Given the description of an element on the screen output the (x, y) to click on. 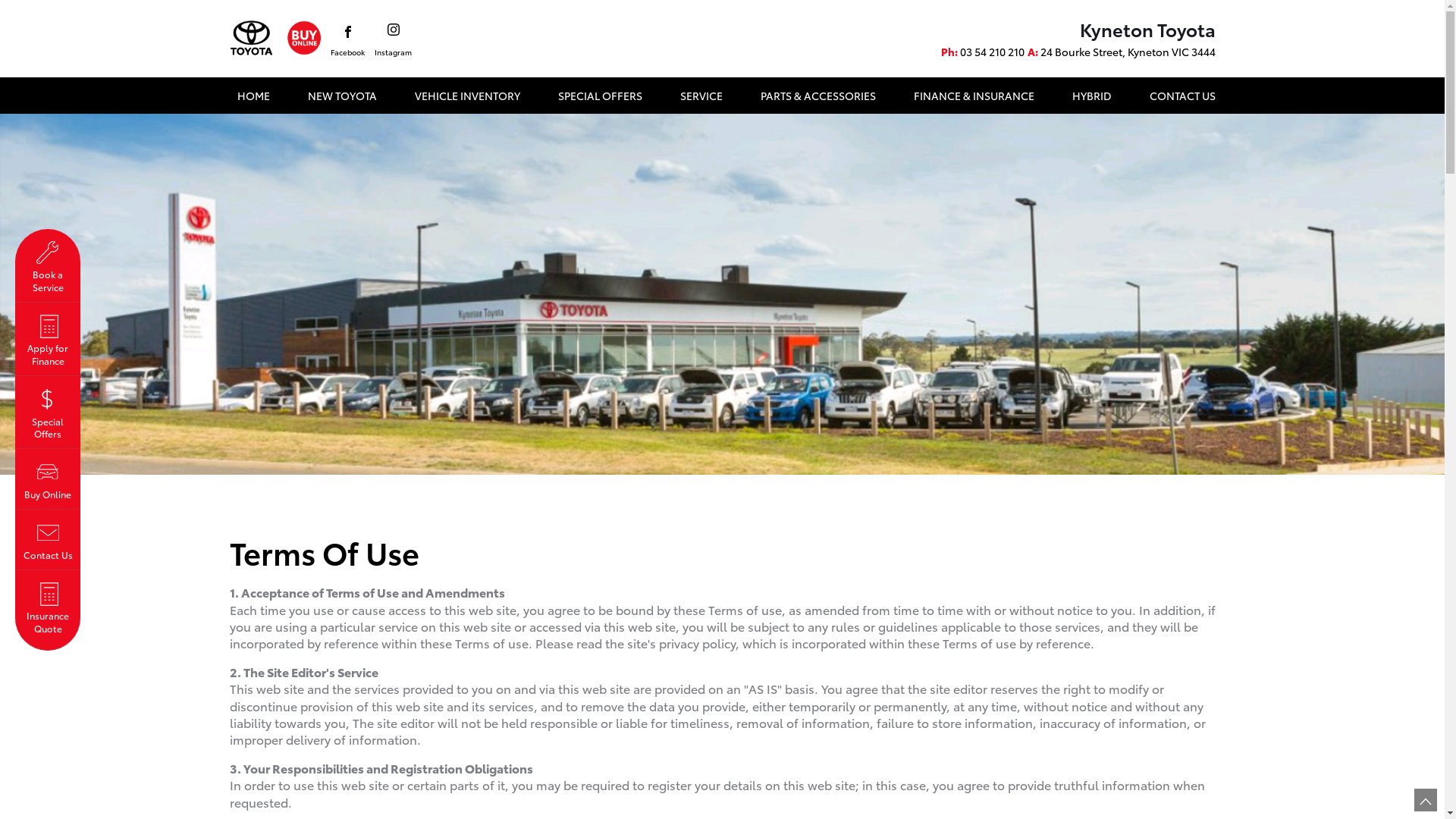
Instagram Element type: text (392, 40)
Facebook Element type: text (347, 42)
A: 24 Bourke Street, Kyneton VIC 3444 Element type: text (1120, 51)
Special Offers Element type: text (47, 412)
PARTS & ACCESSORIES Element type: text (817, 95)
Buy Online Element type: text (47, 478)
Book a Service Element type: text (47, 265)
Contact Us Element type: text (47, 539)
FINANCE & INSURANCE Element type: text (973, 95)
CONTACT US Element type: text (1178, 95)
Ph: 03 54 210 210 Element type: text (981, 51)
HYBRID Element type: text (1091, 95)
Apply for Finance Element type: text (47, 339)
VEHICLE INVENTORY Element type: text (466, 95)
SPECIAL OFFERS Element type: text (599, 95)
NEW TOYOTA Element type: text (342, 95)
HOME Element type: text (252, 95)
SERVICE Element type: text (700, 95)
Insurance Quote Element type: text (47, 610)
